Given the description of an element on the screen output the (x, y) to click on. 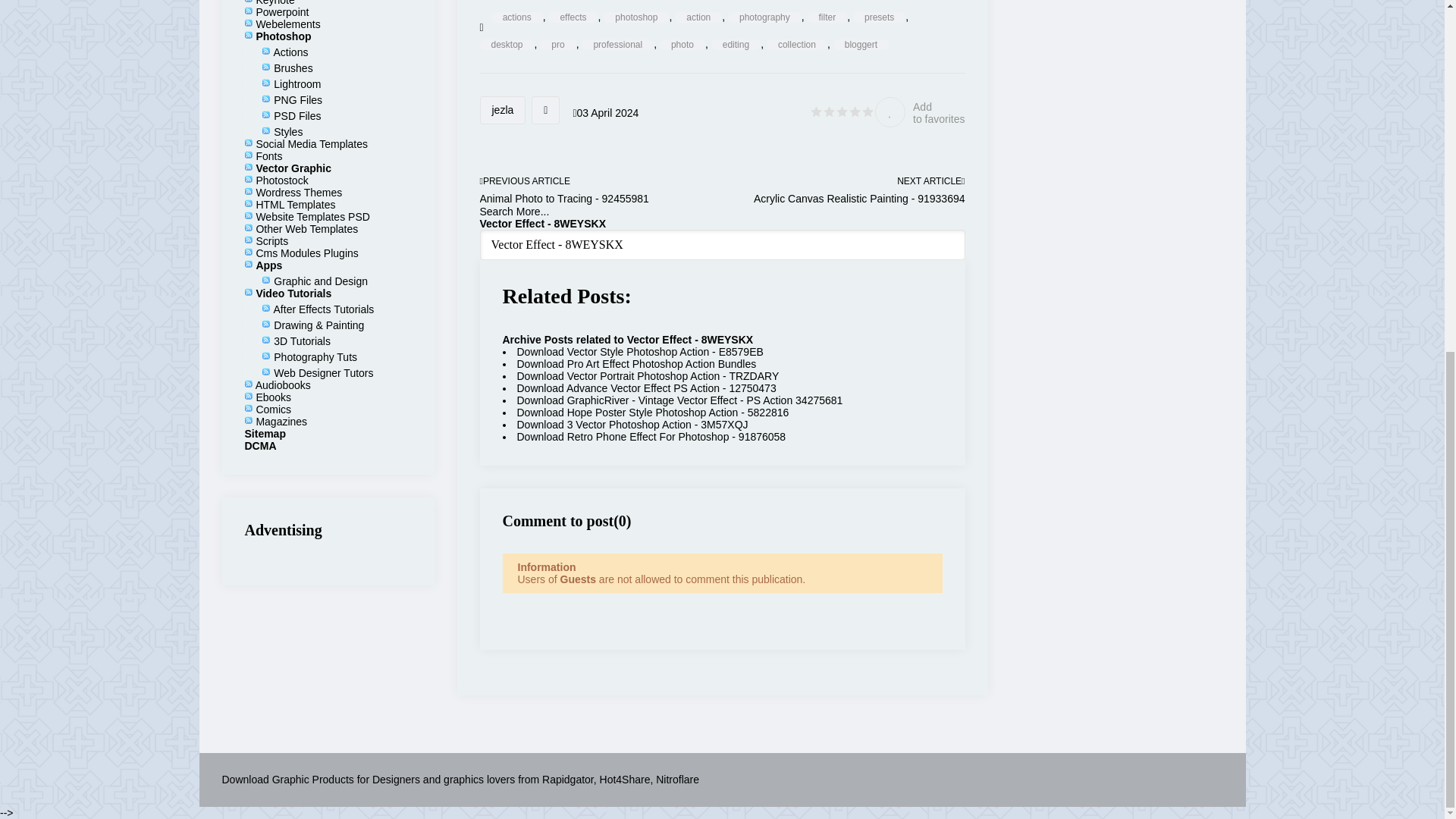
Vector Effect - 8WEYSKX (721, 245)
